Given the description of an element on the screen output the (x, y) to click on. 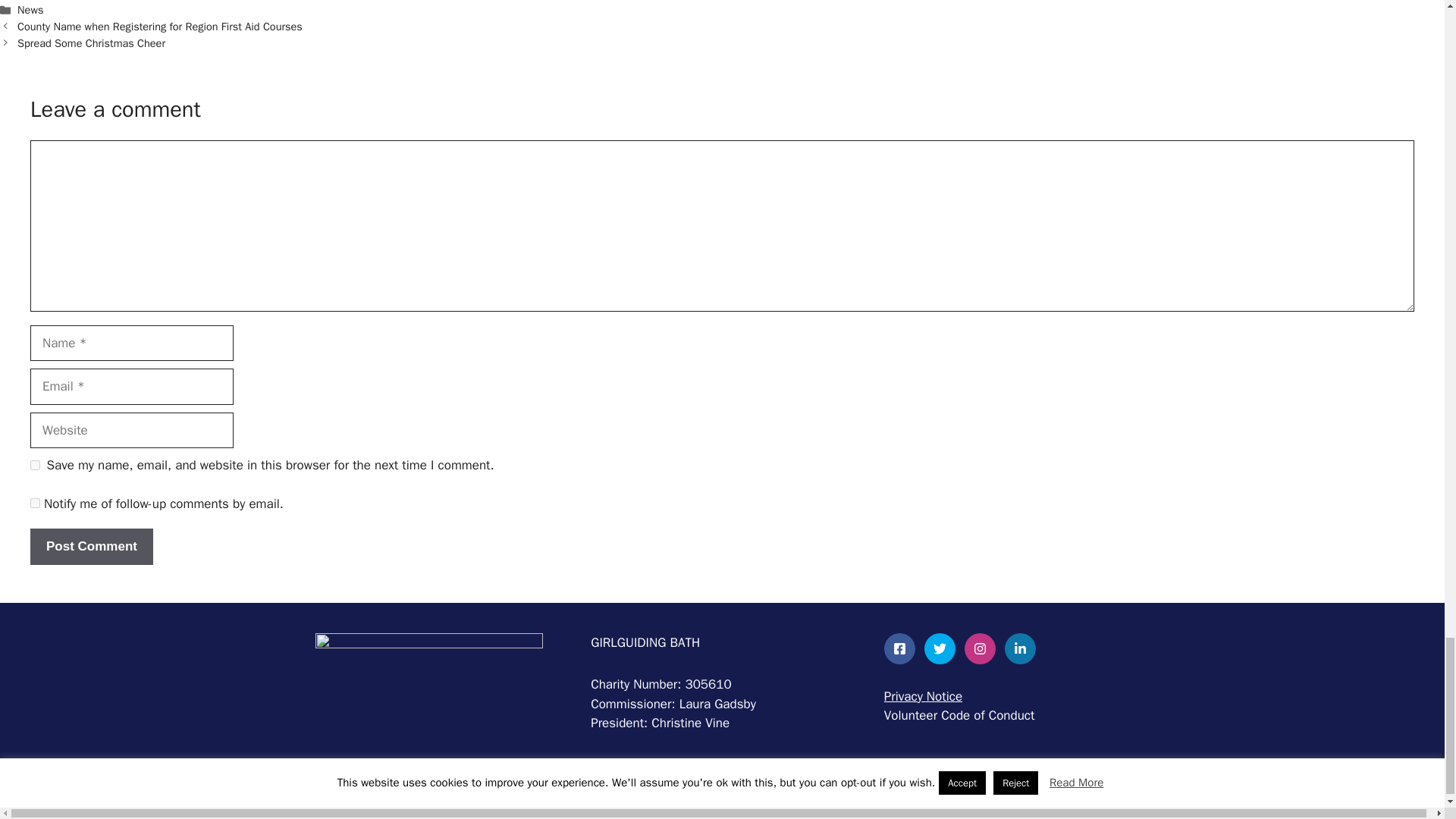
Spread Some Christmas Cheer (91, 42)
Privacy Notice (922, 696)
Post Comment (91, 546)
Volunteer Code of Conduct (959, 715)
subscribe (35, 502)
yes (35, 465)
County Name when Registering for Region First Aid Courses (159, 26)
News (30, 9)
Post Comment (91, 546)
